Given the description of an element on the screen output the (x, y) to click on. 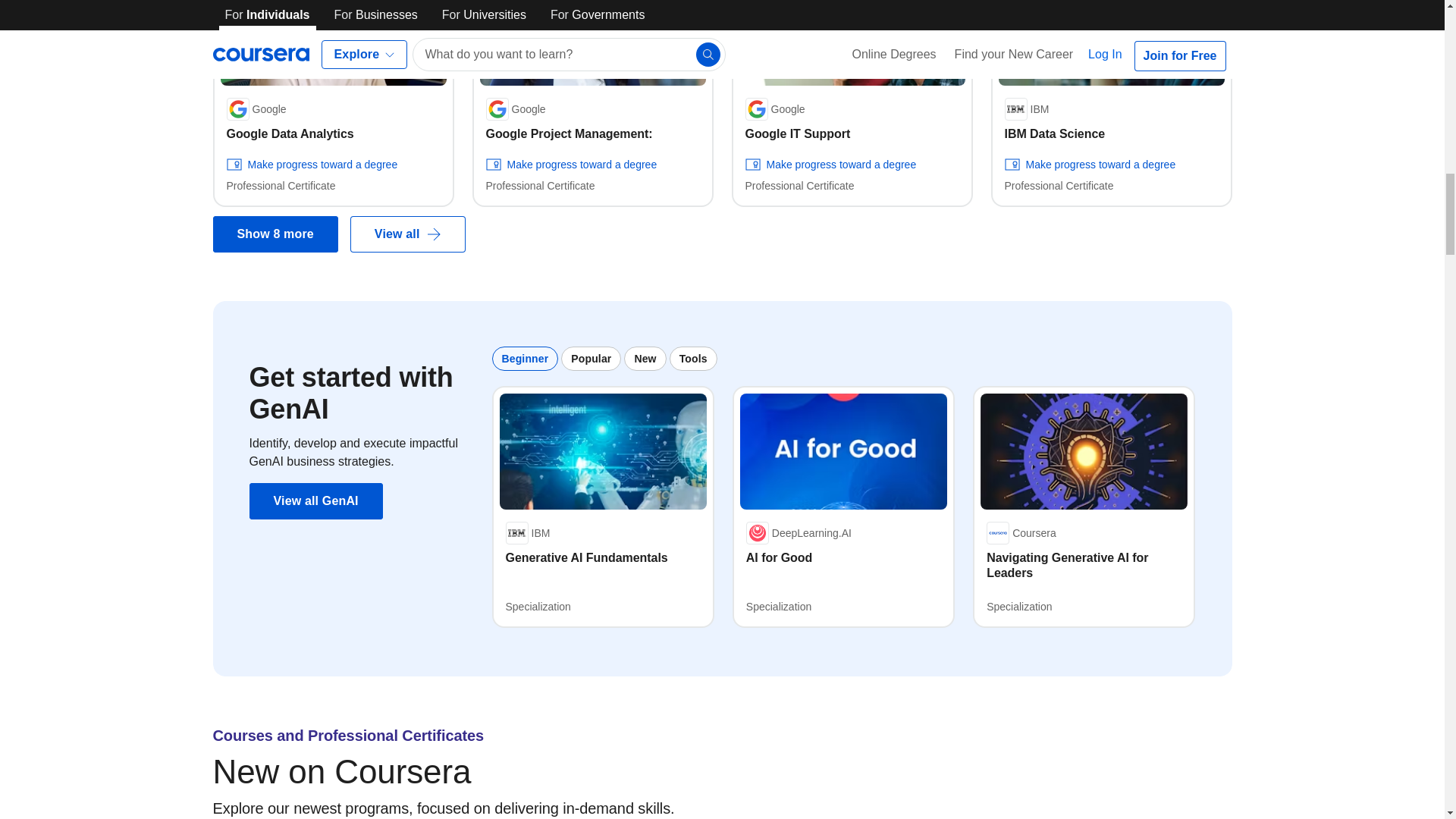
Coursera  (1022, 532)
DeepLearning.AI (798, 532)
Google (514, 108)
Google (774, 108)
Google (255, 108)
IBM (1026, 108)
IBM (527, 532)
